Given the description of an element on the screen output the (x, y) to click on. 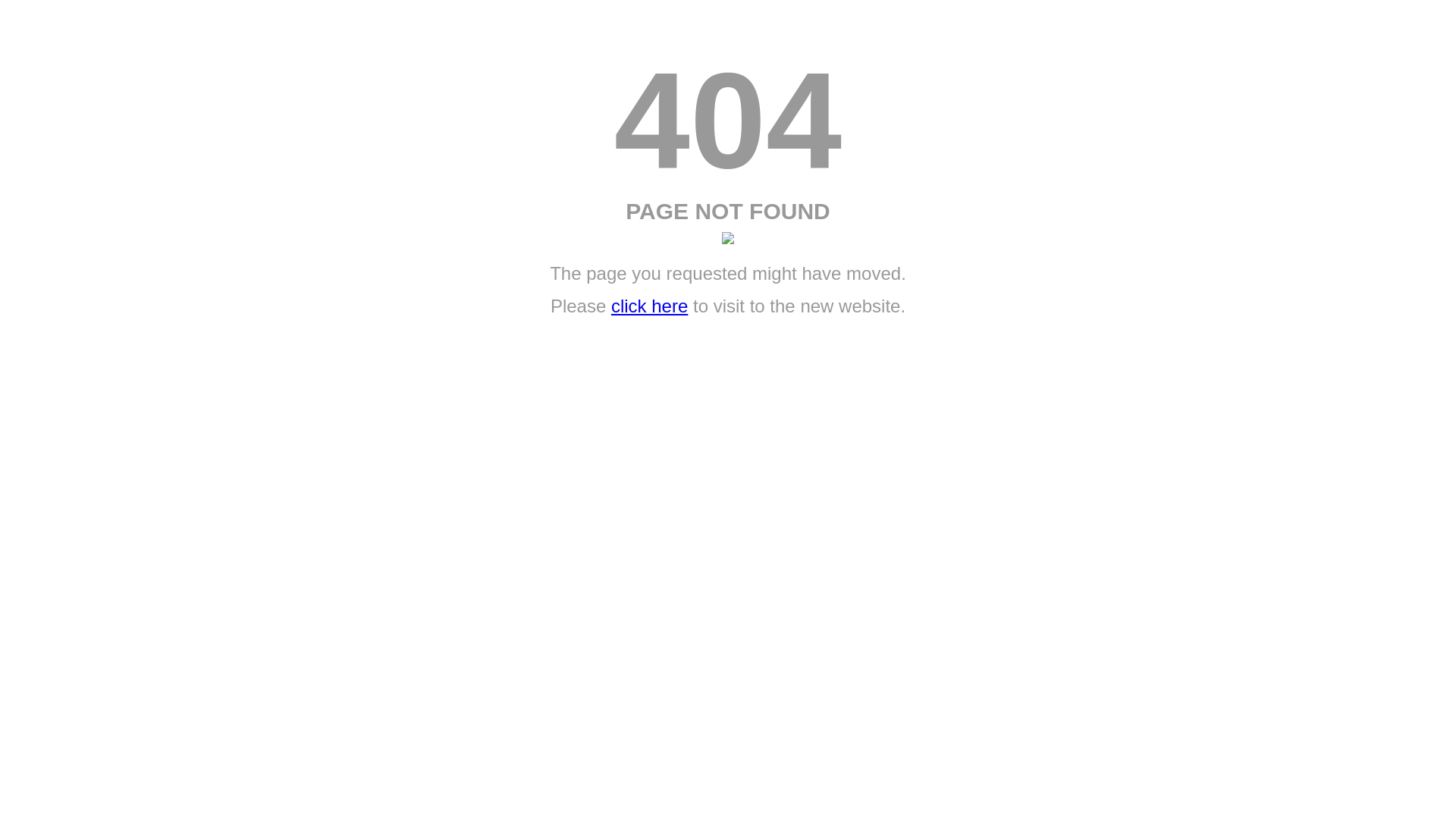
click here Element type: text (649, 305)
